Given the description of an element on the screen output the (x, y) to click on. 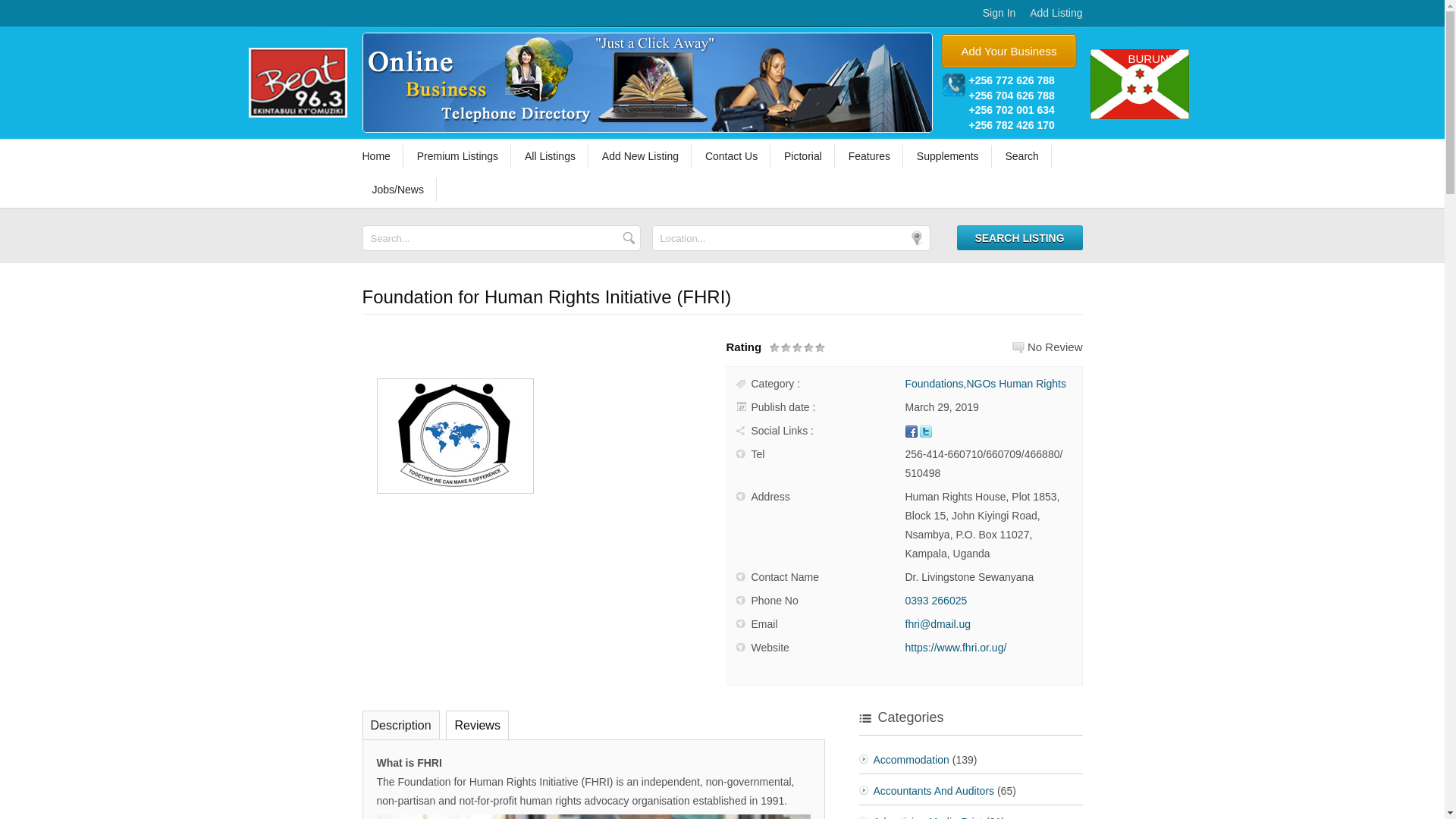
Add New Listing (642, 156)
Sign In (999, 12)
Supplements (949, 156)
All Listings (552, 156)
View all posts filed under Accommodation (911, 759)
Search Listing (1019, 237)
Twitter (925, 431)
Premium Listings (459, 156)
Add Listing (1055, 12)
Facebook (911, 431)
View all posts filed under Advertising Media-Print (928, 817)
Phone (952, 84)
Home (383, 156)
Search (1022, 156)
Contact Us (733, 156)
